Given the description of an element on the screen output the (x, y) to click on. 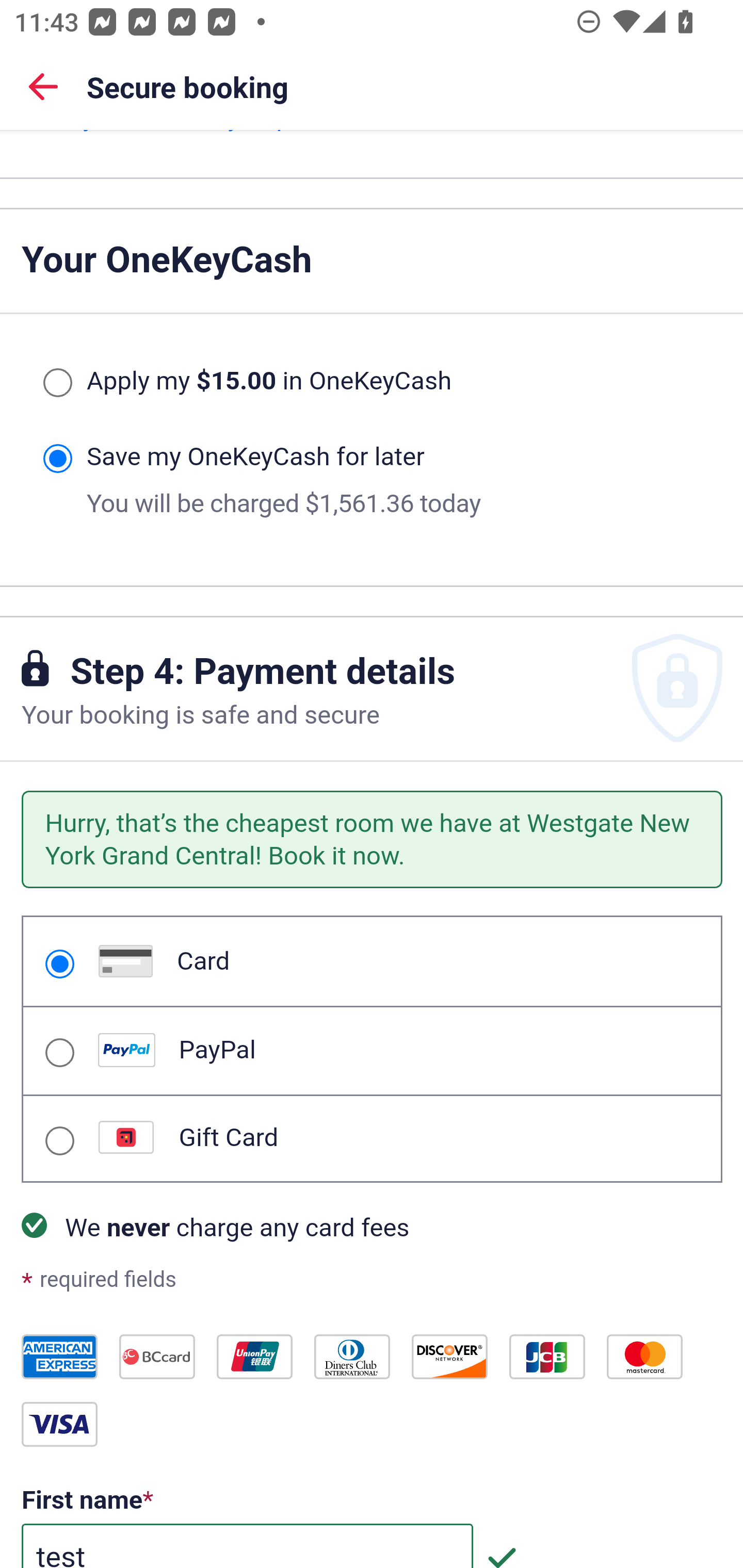
Back (43, 86)
Apply my $15.00 in OneKeyCash (57, 383)
Card (59, 965)
PayPal (59, 1053)
Gift Card (59, 1141)
test (247, 1546)
